Given the description of an element on the screen output the (x, y) to click on. 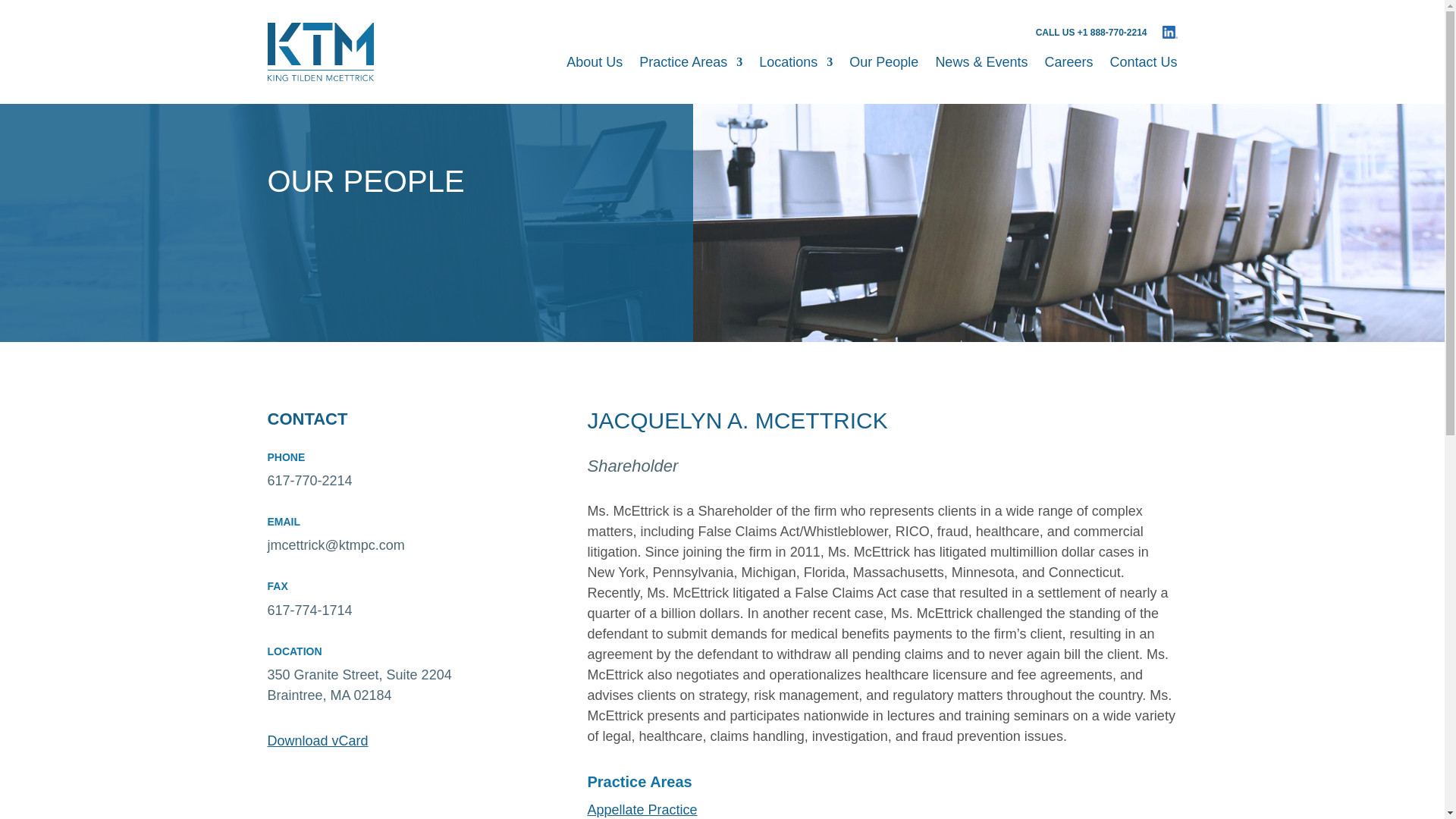
Our People (883, 67)
Locations (795, 67)
Careers (1068, 67)
About Us (594, 67)
LinkedIn (1168, 31)
Appellate Practice (641, 809)
Practice Areas (690, 67)
Contact Us (1142, 67)
KTM (319, 51)
